Given the description of an element on the screen output the (x, y) to click on. 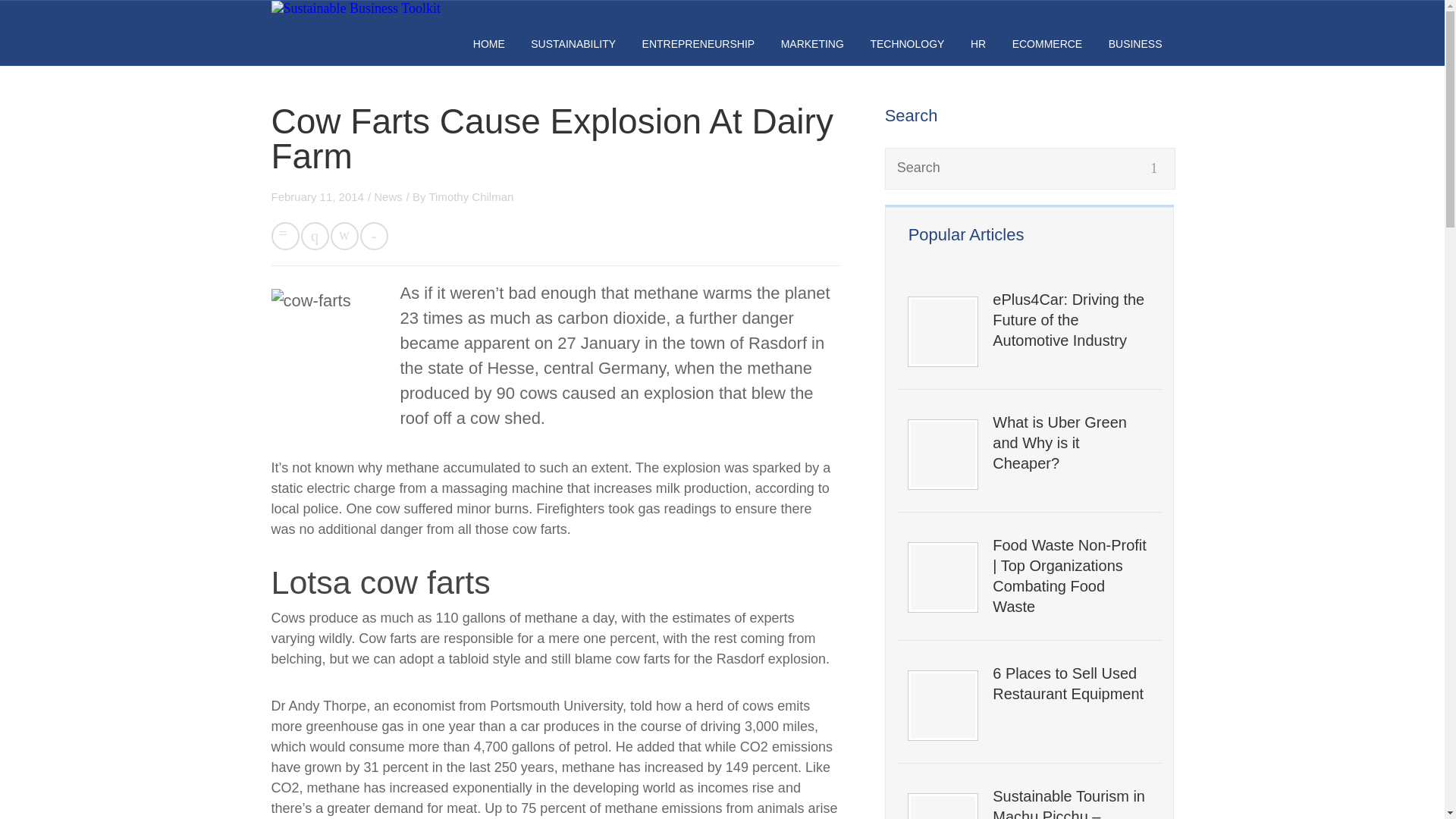
News (387, 196)
SUSTAINABILITY (573, 43)
6 Places to Sell Used Restaurant Equipment (1071, 683)
Timothy Chilman (470, 196)
ePlus4Car: Driving the Future of the Automotive Industry (1071, 320)
ENTREPRENEURSHIP (698, 43)
What is Uber Green and Why is it Cheaper? (1071, 443)
HOME (489, 43)
BUSINESS (1134, 43)
MARKETING (812, 43)
ECOMMERCE (1047, 43)
TECHNOLOGY (906, 43)
HR (978, 43)
